Given the description of an element on the screen output the (x, y) to click on. 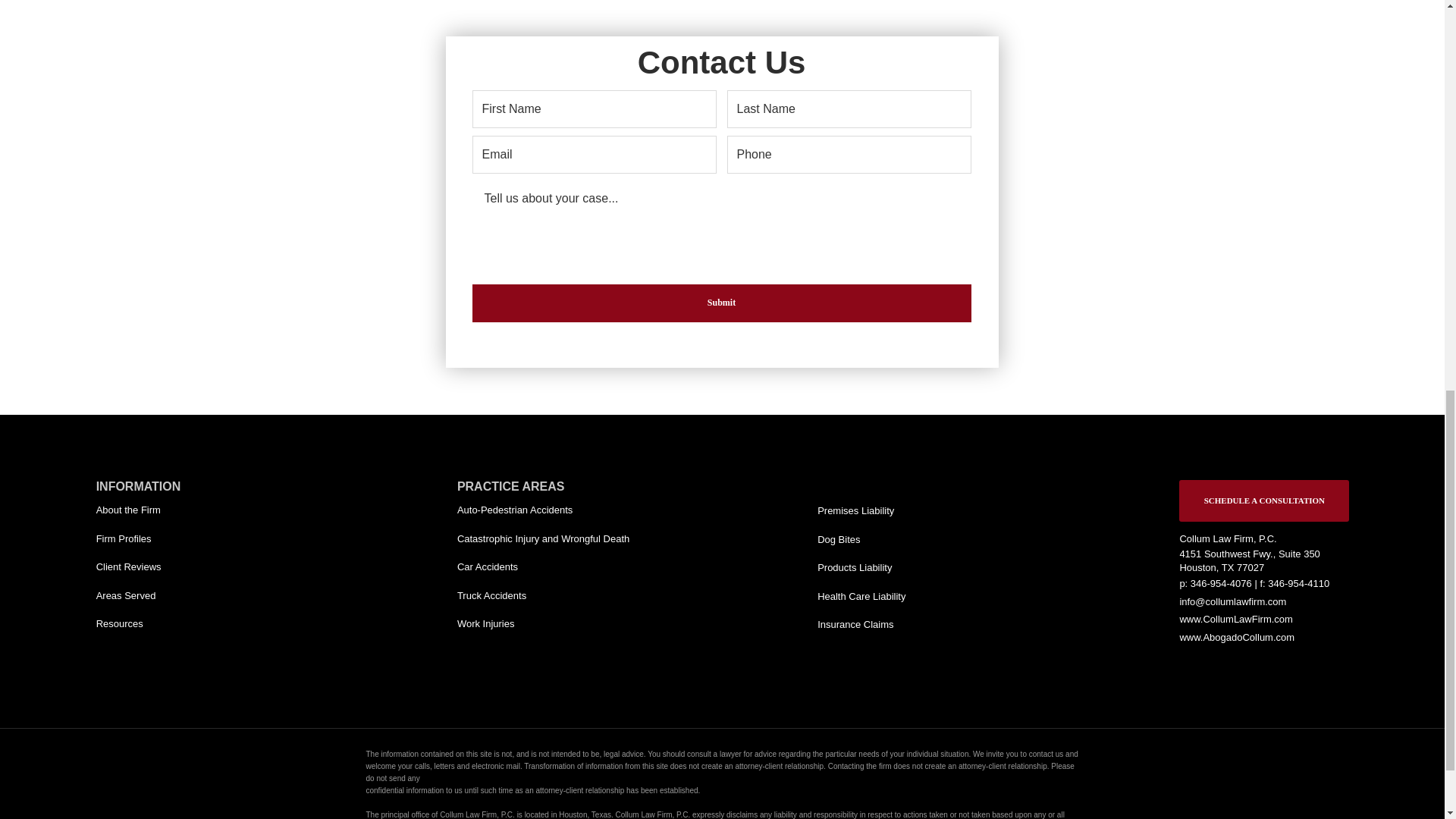
Premises Liability (901, 510)
Insurance Claims (901, 624)
www.AbogadoCollum.com (1236, 636)
Work Injuries (542, 623)
Areas Served (181, 595)
Products Liability (901, 567)
SCHEDULE A CONSULTATION (1264, 500)
Client Reviews (181, 567)
Auto-Pedestrian Accidents (542, 509)
Firm Profiles (181, 538)
About the Firm (181, 509)
Submit (721, 303)
www.CollumLawFirm.com (1235, 618)
Catastrophic Injury and Wrongful Death (548, 538)
Car Accidents (542, 567)
